Given the description of an element on the screen output the (x, y) to click on. 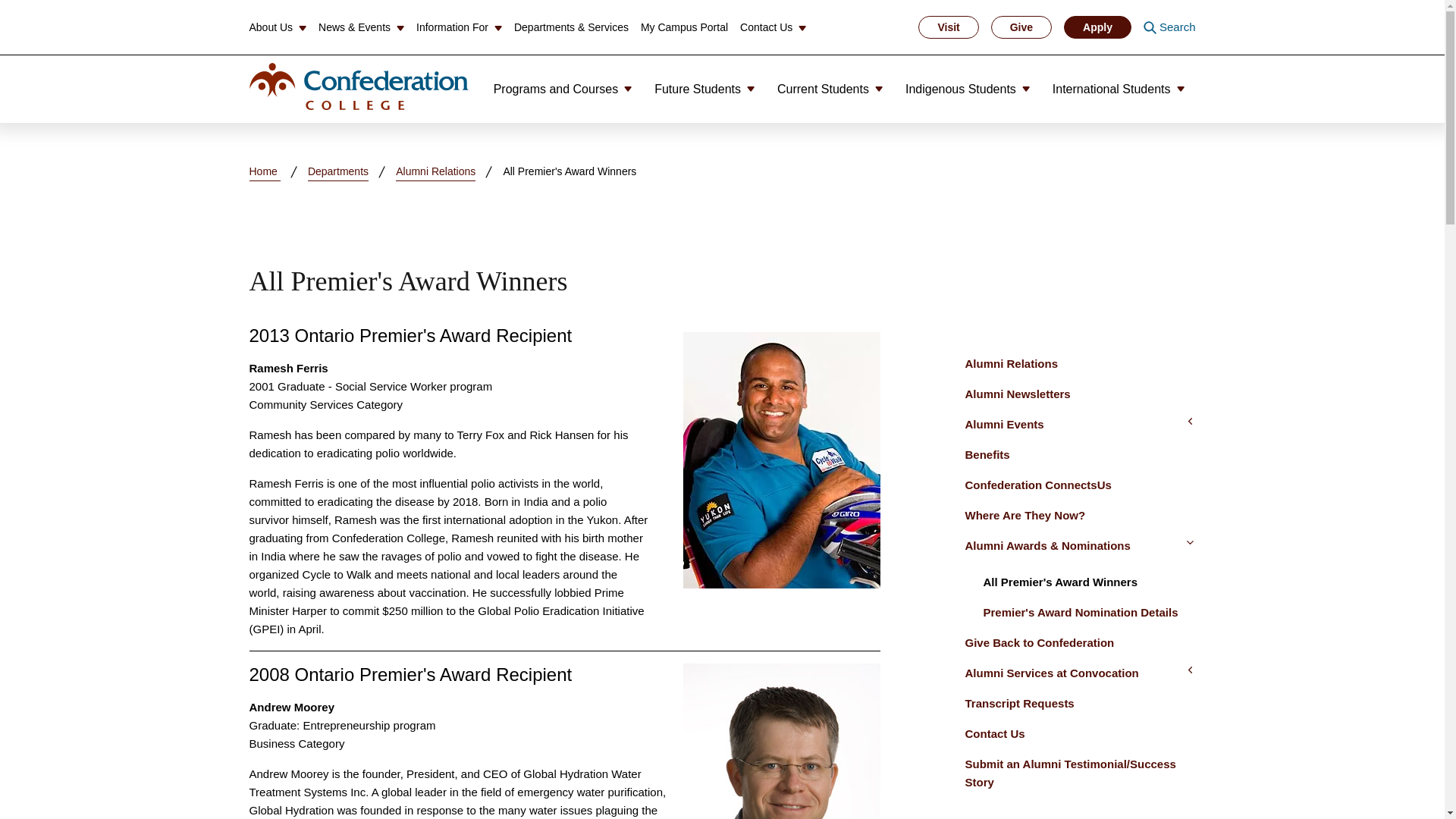
Home (357, 86)
Contact Us (772, 27)
My Campus Portal (684, 27)
About Us (276, 27)
Search (1168, 27)
Visit (948, 26)
Apply (1097, 26)
Give (1021, 26)
Information For (459, 27)
